Given the description of an element on the screen output the (x, y) to click on. 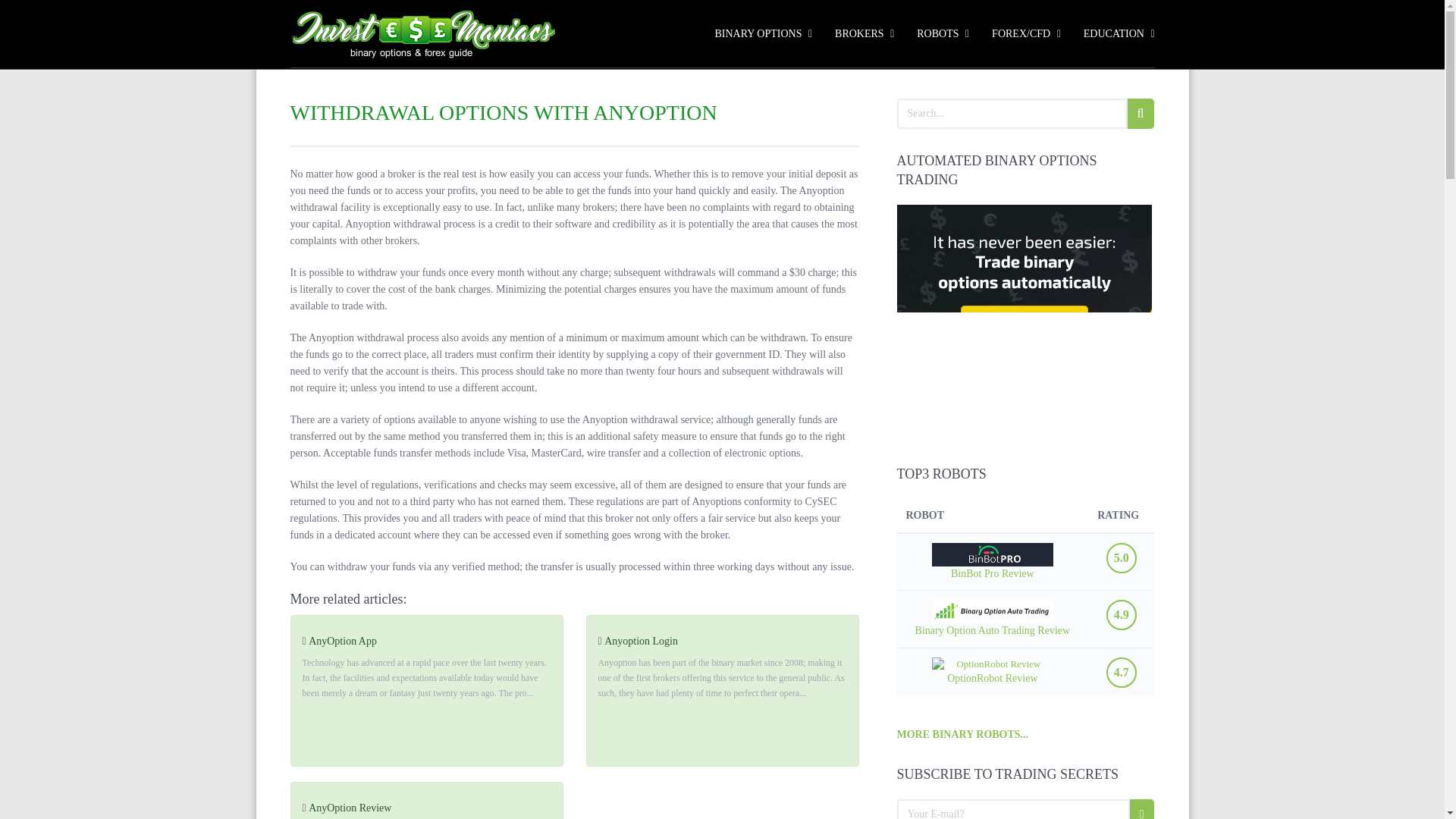
Binary Options Trading (763, 34)
5.0 (1121, 557)
Binary Options Robots (1025, 34)
BINARY OPTIONS (763, 34)
BROKERS (864, 34)
Binary Option Auto Trading Review (991, 617)
EDUCATION (1112, 34)
4.7 (1121, 672)
BinBot Pro Review (991, 560)
Binary Options Education (1112, 34)
MORE BINARY ROBOTS... (961, 734)
Binary Options Robots (942, 34)
ROBOTS (942, 34)
OptionRobot Review (991, 670)
4.9 (1121, 614)
